Given the description of an element on the screen output the (x, y) to click on. 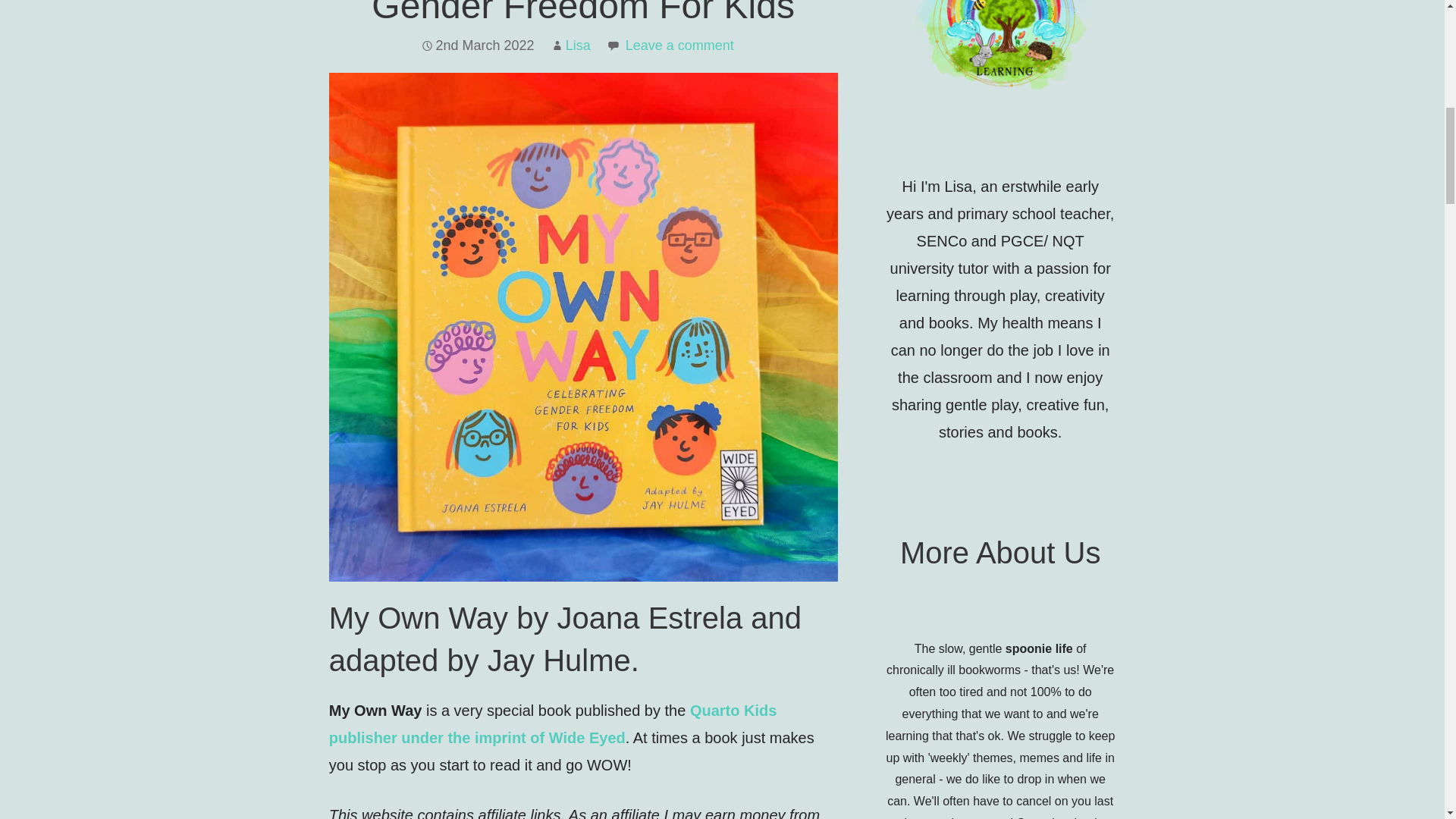
Posts by Lisa (578, 45)
Lisa (578, 45)
Leave a comment (679, 45)
Quarto Kids publisher under the imprint of Wide Eyed (553, 723)
